Given the description of an element on the screen output the (x, y) to click on. 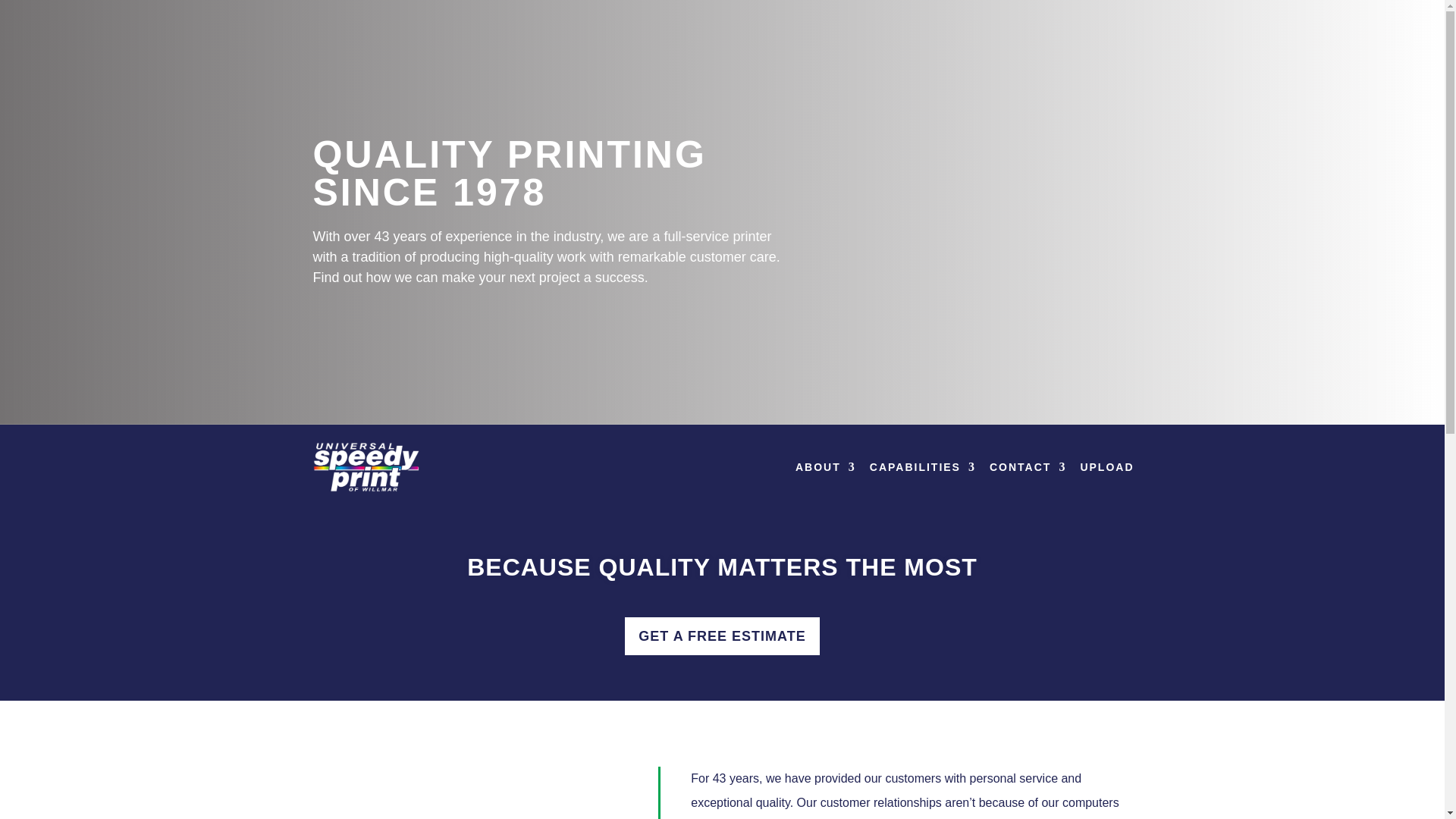
CAPABILITIES (922, 467)
UPLOAD (1107, 467)
GET A FREE ESTIMATE (721, 636)
CONTACT (1027, 467)
ABOUT (825, 467)
